Given the description of an element on the screen output the (x, y) to click on. 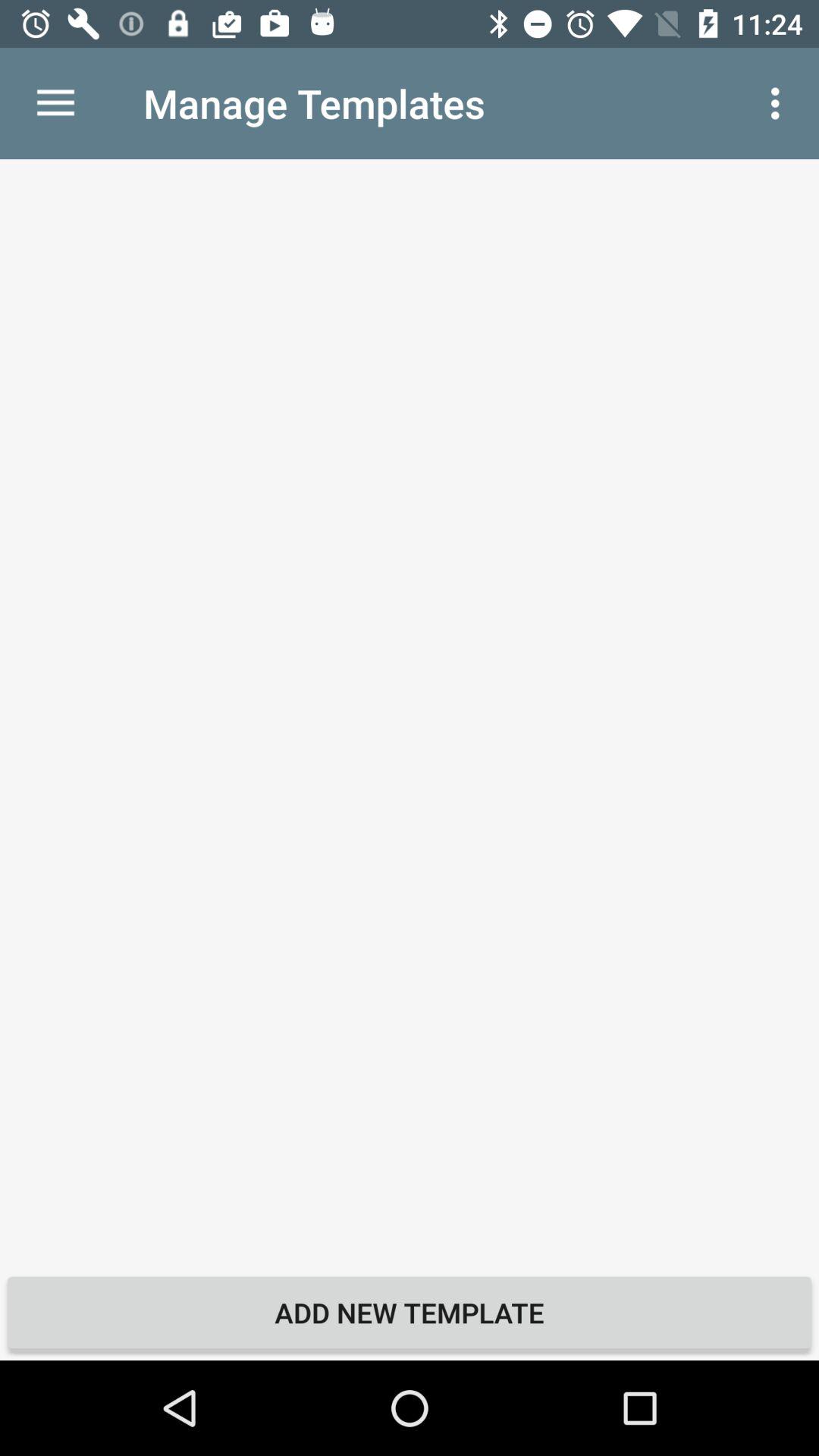
tap item at the top right corner (779, 103)
